Given the description of an element on the screen output the (x, y) to click on. 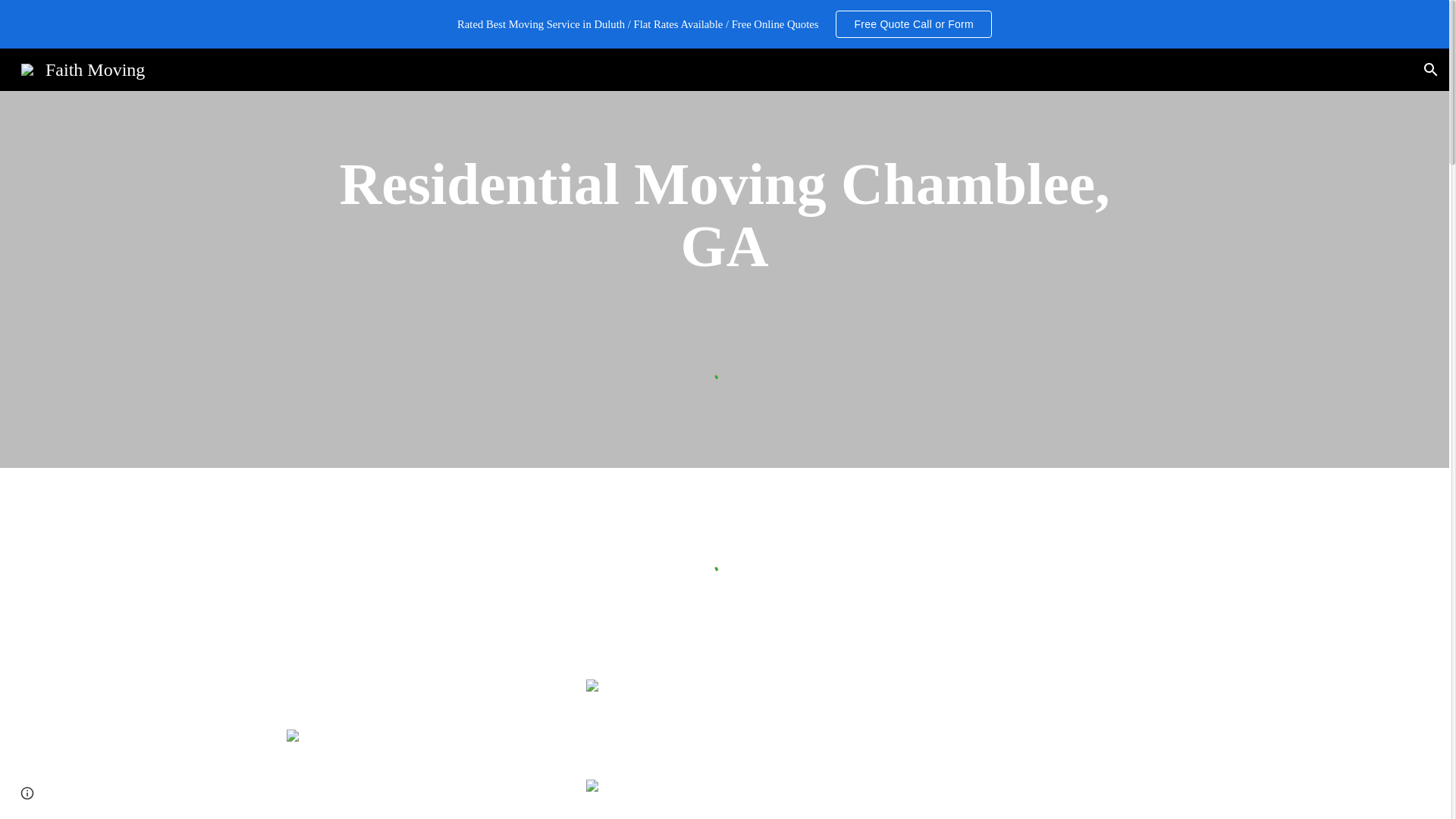
Free Quote Call or Form (912, 23)
Custom embed (723, 373)
SERVICES (858, 66)
HOME (762, 66)
Faith Moving (82, 67)
Free Quote Call or Form (913, 23)
